Given the description of an element on the screen output the (x, y) to click on. 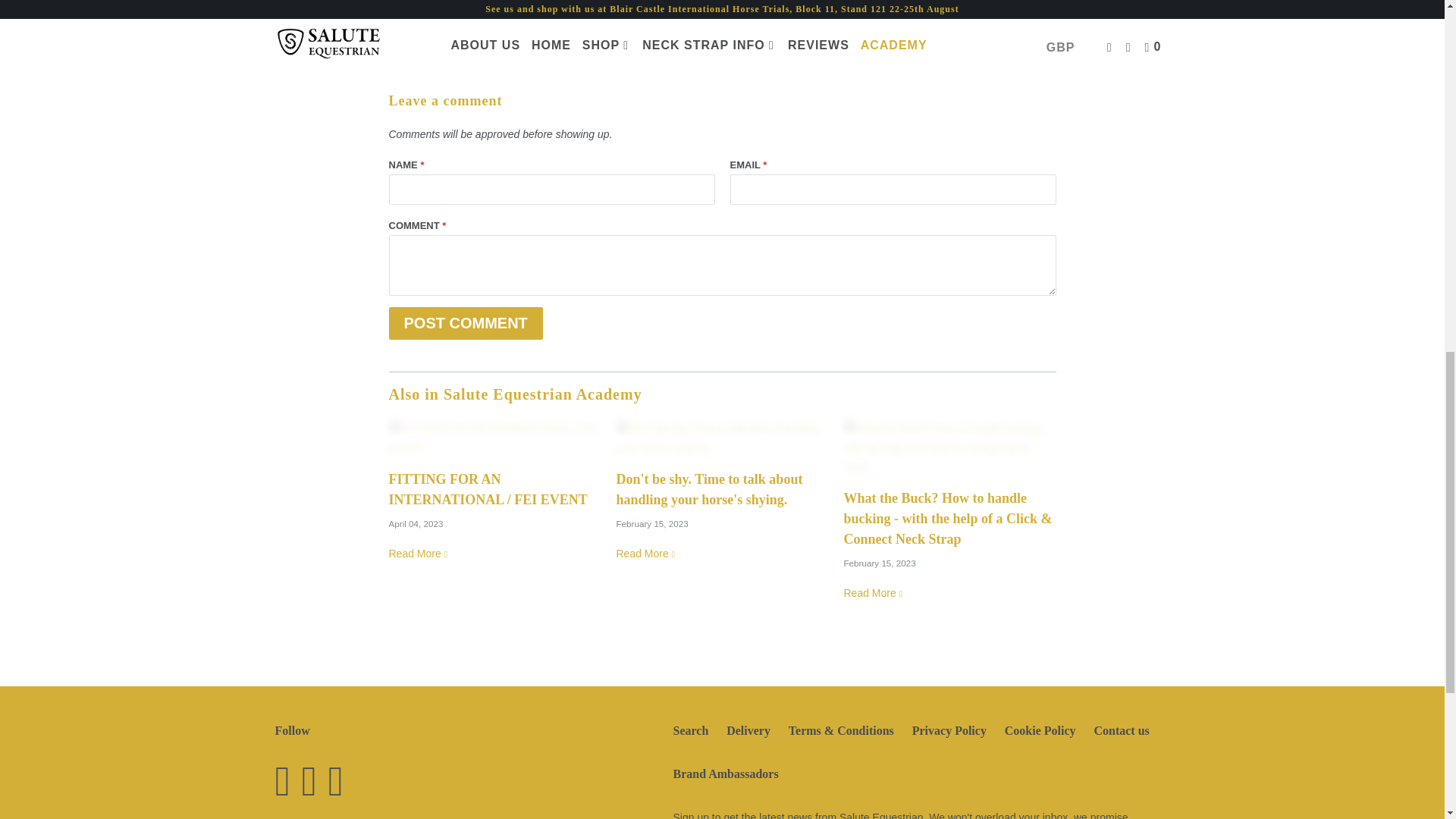
Post comment (464, 323)
